Given the description of an element on the screen output the (x, y) to click on. 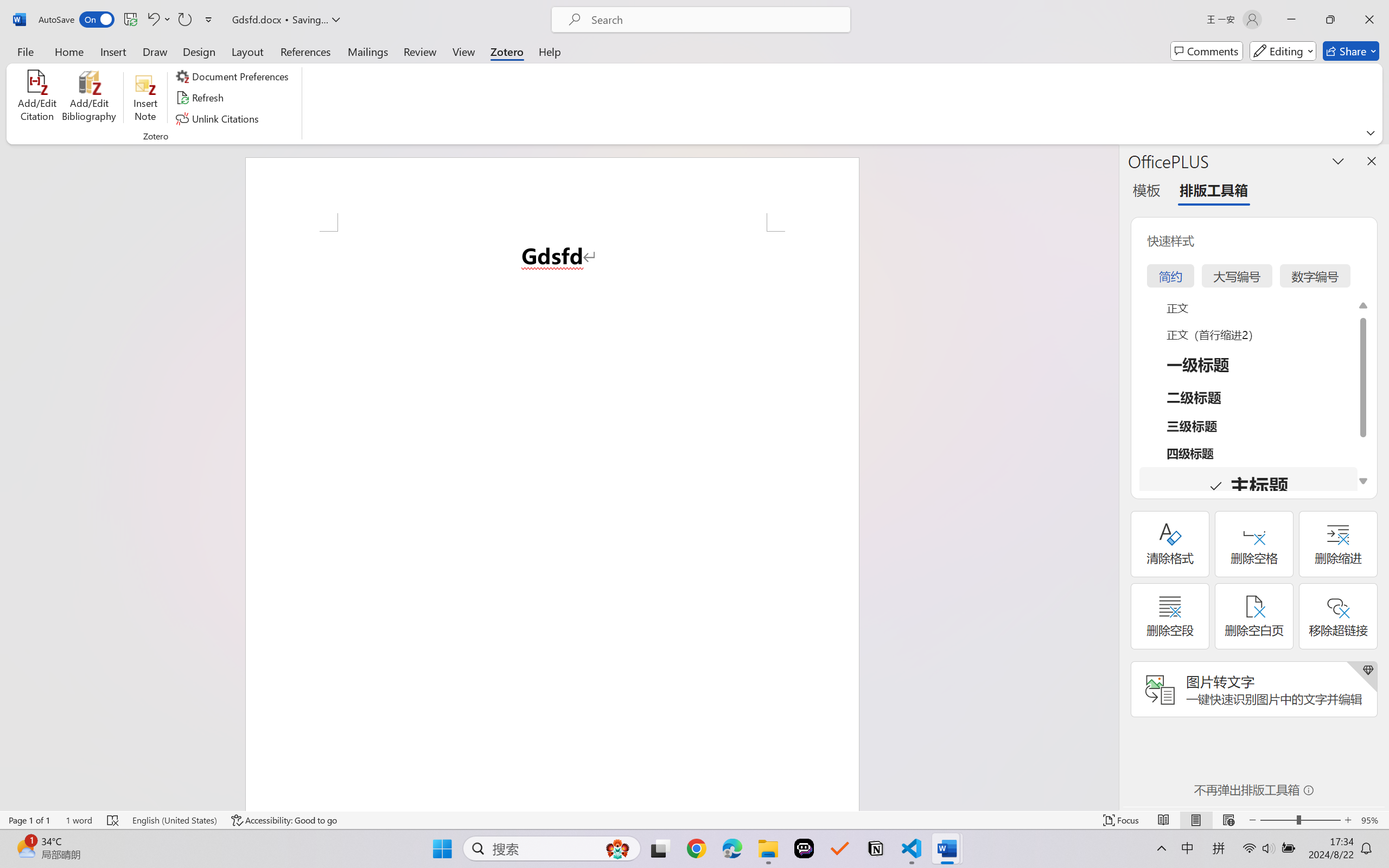
Undo <ApplyStyleToDoc>b__0 (152, 19)
Add/Edit Citation (37, 97)
